Given the description of an element on the screen output the (x, y) to click on. 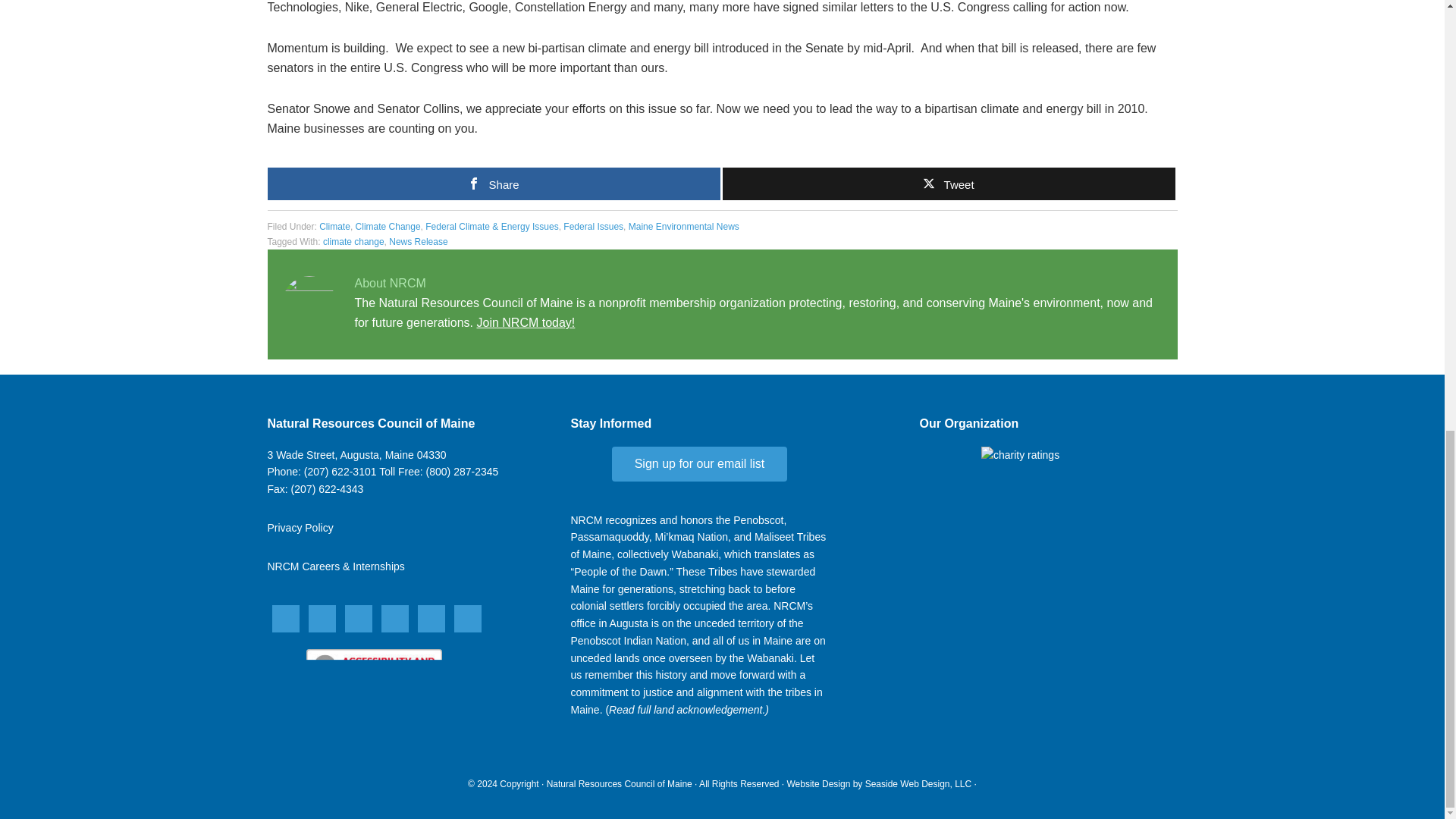
Contact Us (355, 454)
